Given the description of an element on the screen output the (x, y) to click on. 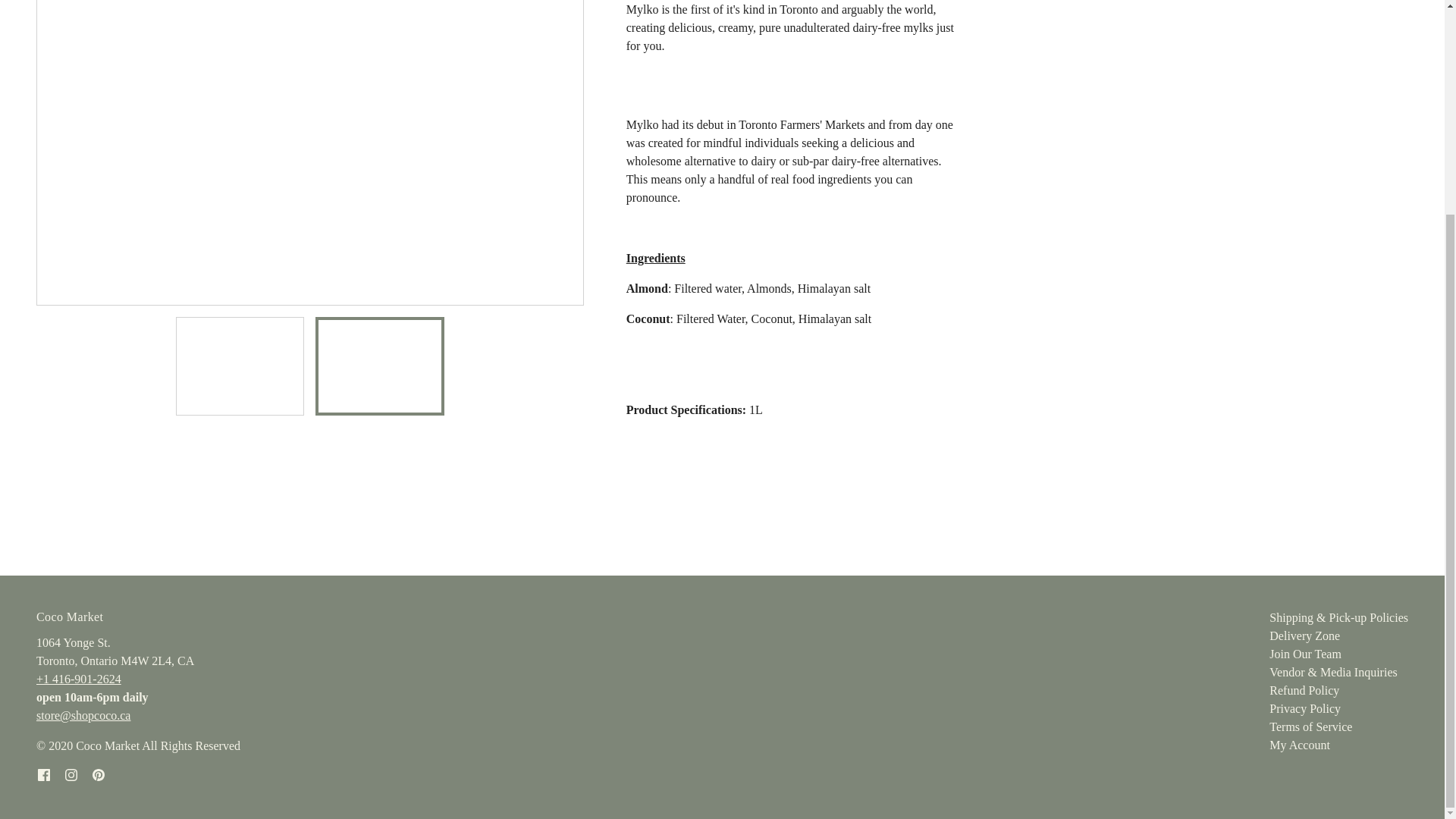
Refund Policy (1304, 689)
Privacy Policy (1304, 707)
Terms of Service (1310, 726)
Join Our Team (1304, 653)
Delivery Zone (1304, 635)
My Account (1299, 744)
